Given the description of an element on the screen output the (x, y) to click on. 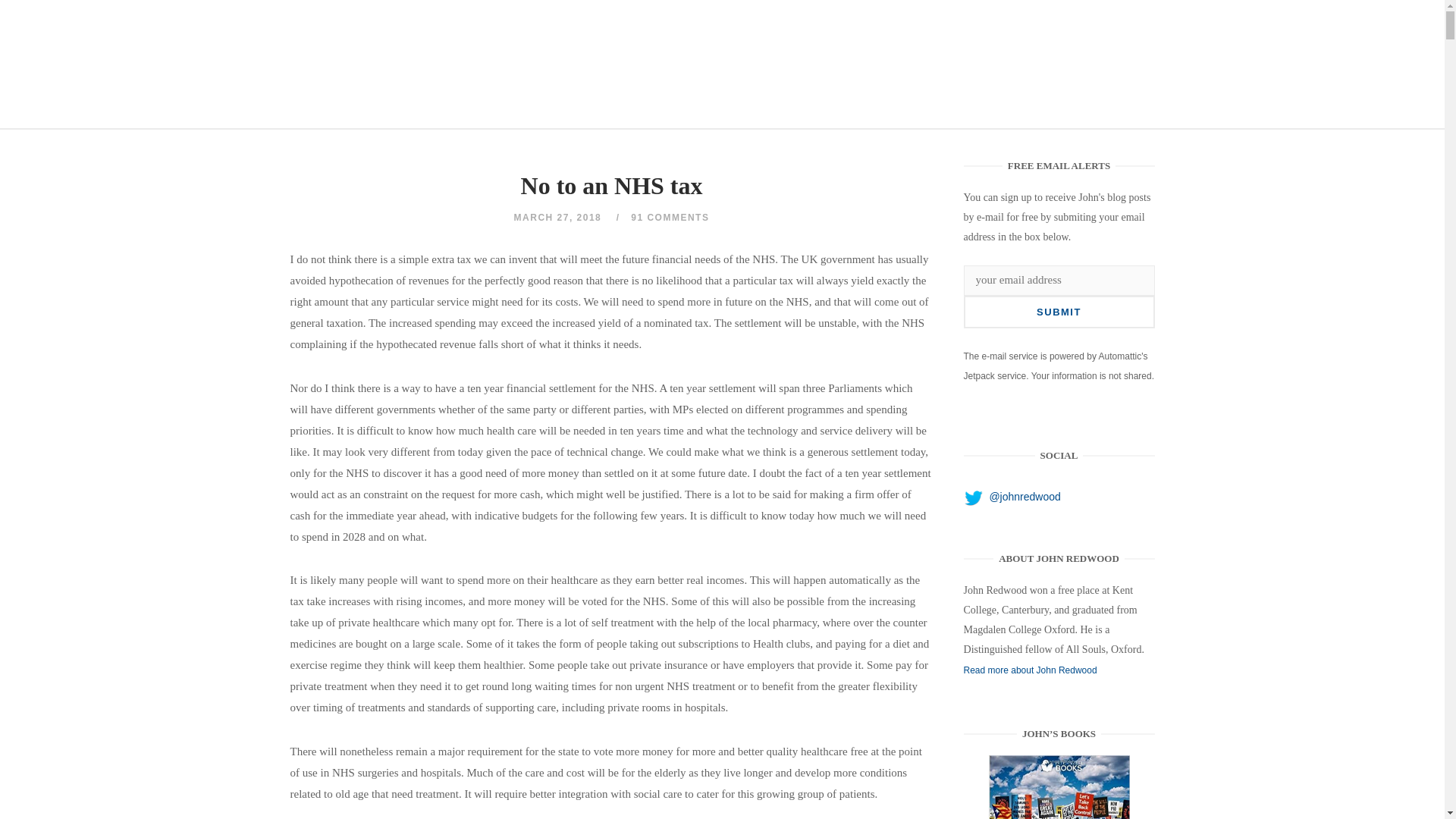
Submit (1058, 311)
No to an NHS tax (1058, 787)
Read more about John Redwood (1030, 670)
Submit (1058, 311)
